Given the description of an element on the screen output the (x, y) to click on. 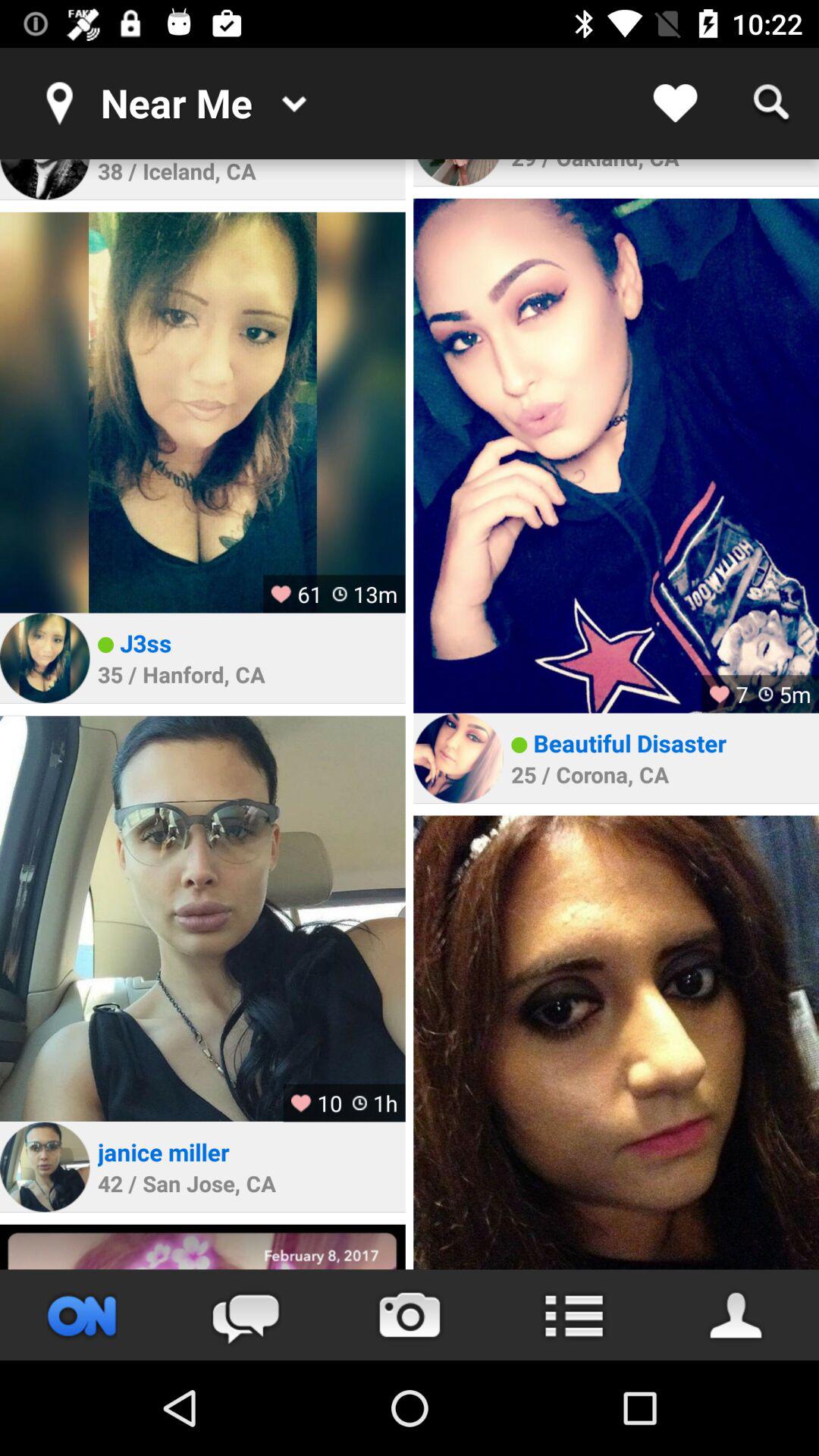
click on profile (458, 172)
